Given the description of an element on the screen output the (x, y) to click on. 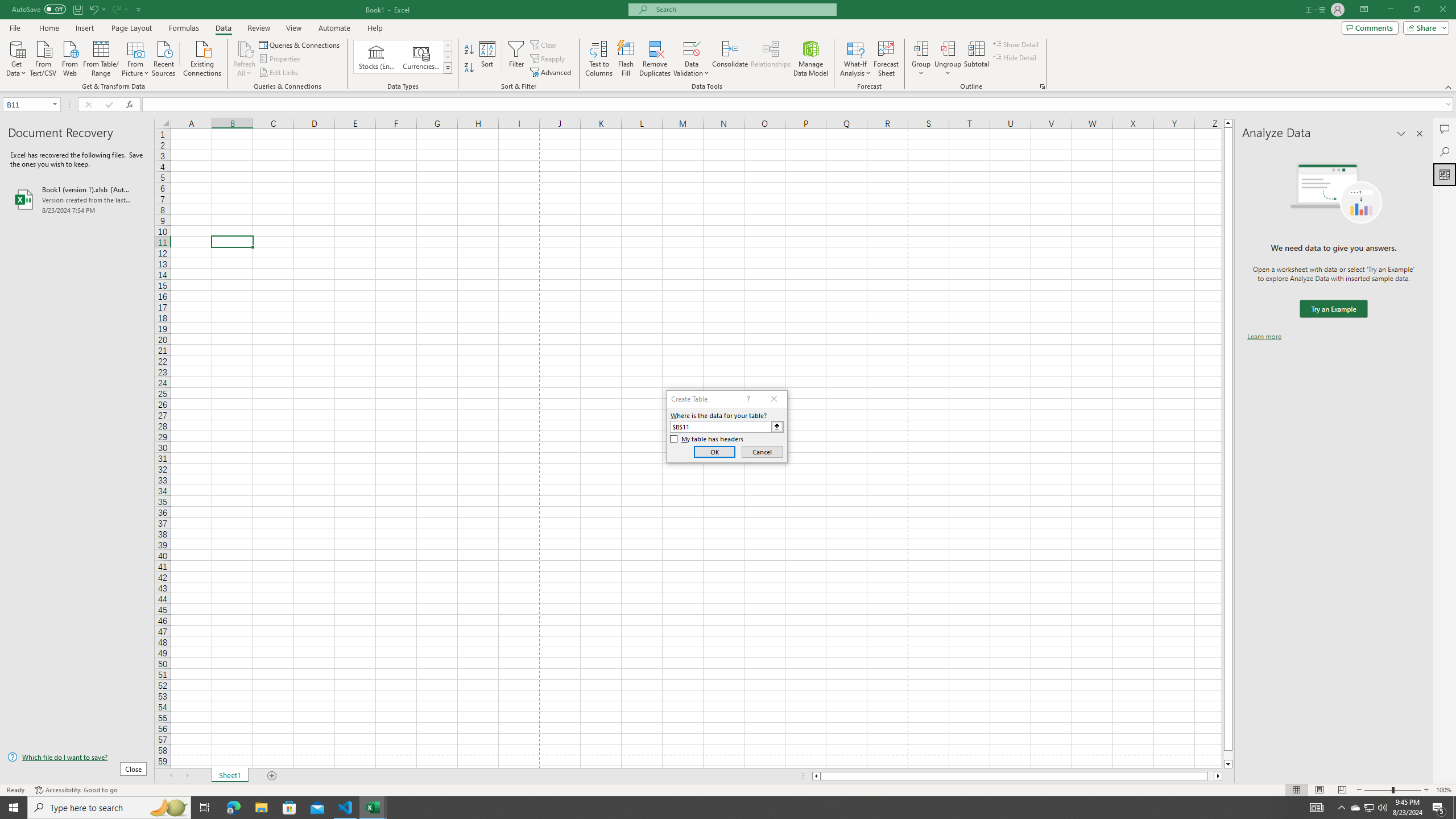
Properties (280, 58)
Normal (1296, 790)
Page Layout (1318, 790)
Undo (96, 9)
Reapply (548, 58)
Formula Bar (799, 104)
Quick Access Toolbar (77, 9)
Customize Quick Access Toolbar (139, 9)
Advanced... (551, 72)
Column right (1218, 775)
Row up (448, 45)
Add Sheet (272, 775)
Undo (92, 9)
Close (1442, 9)
Hide Detail (1014, 56)
